Given the description of an element on the screen output the (x, y) to click on. 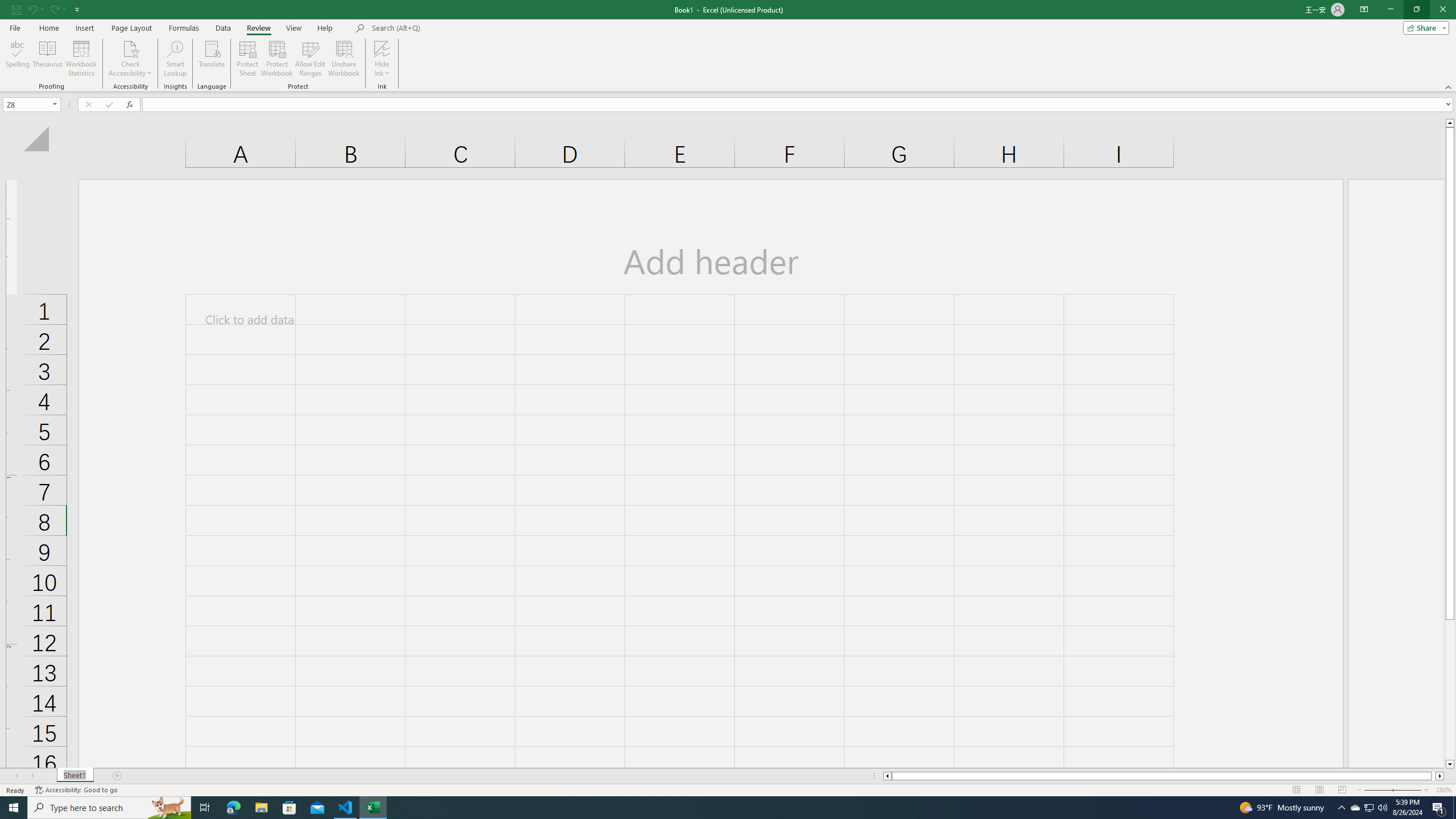
Translate (211, 58)
Workbook Statistics (81, 58)
Smart Lookup (175, 58)
Thesaurus... (47, 58)
Allow Edit Ranges (310, 58)
